Given the description of an element on the screen output the (x, y) to click on. 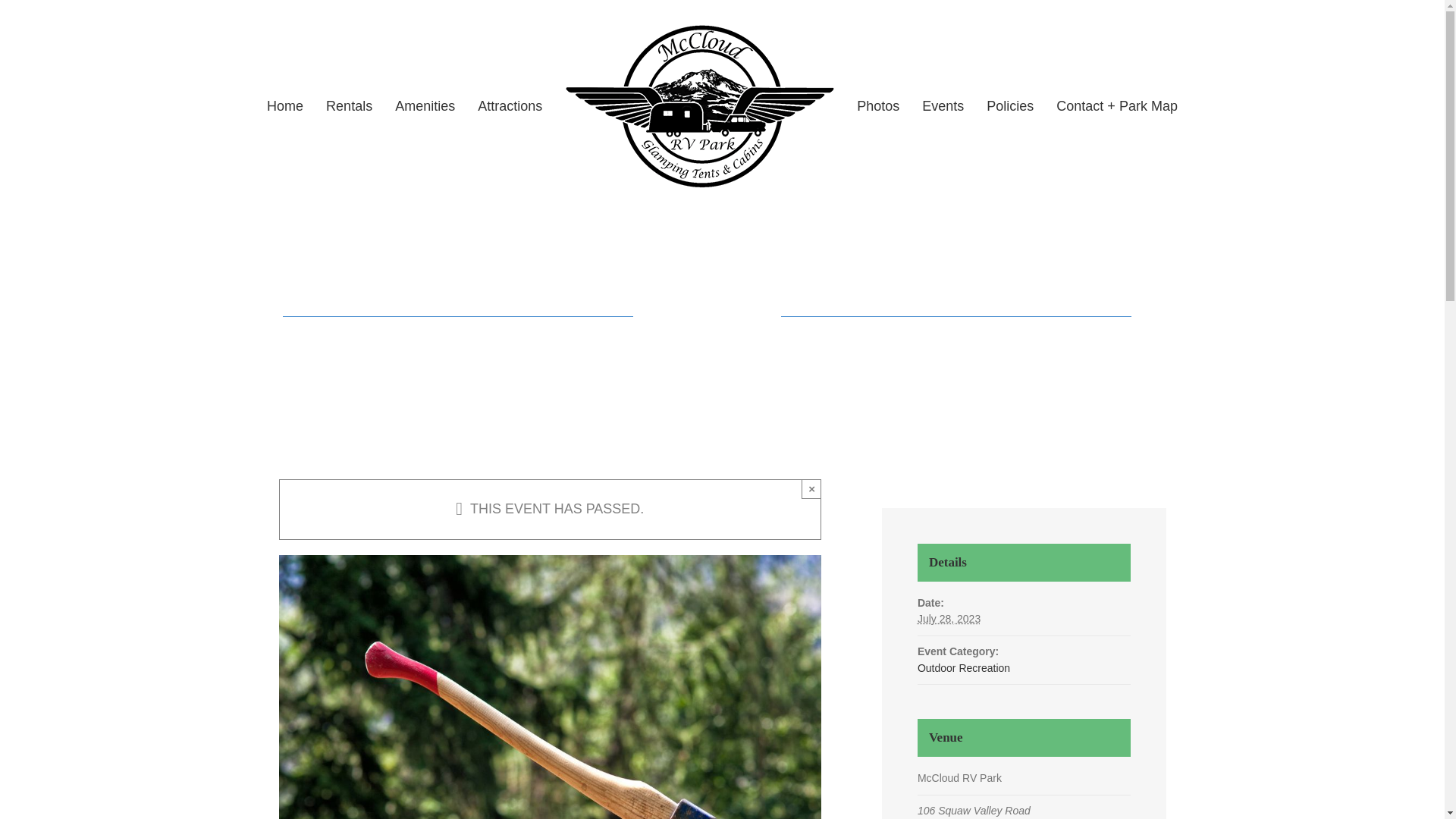
Outdoor Recreation (963, 667)
2023-07-28 (948, 618)
